Given the description of an element on the screen output the (x, y) to click on. 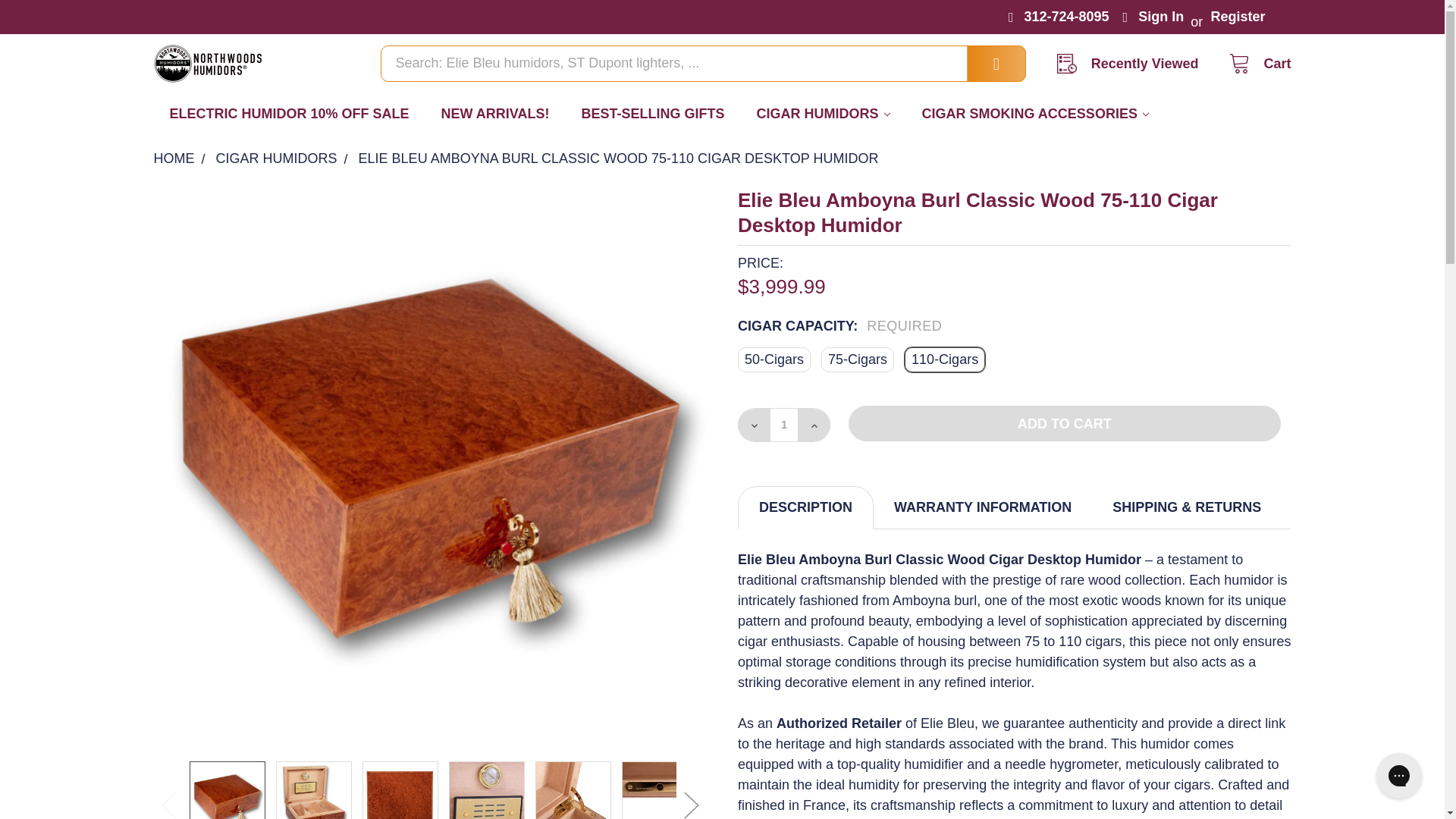
Search (983, 63)
NEW ARRIVALS! (495, 114)
CIGAR HUMIDORS (823, 114)
CIGAR SMOKING ACCESSORIES (1034, 114)
Cart (1254, 63)
Cart (1254, 63)
